Given the description of an element on the screen output the (x, y) to click on. 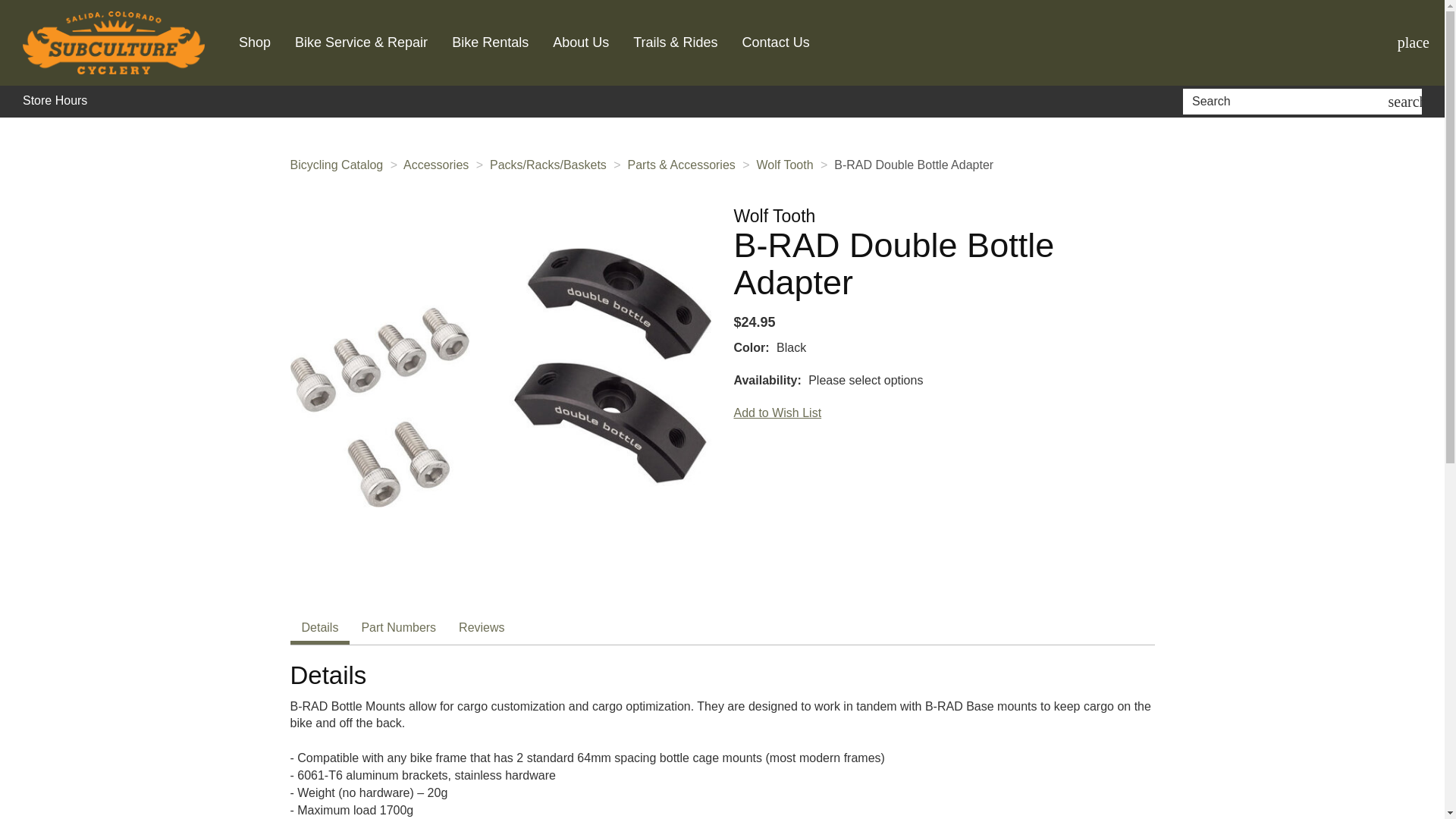
Subculture Cyclery Home Page (114, 42)
Wolf Tooth B-RAD Double Bottle Adapter (499, 377)
Store Hours (55, 100)
Search (1287, 101)
